Given the description of an element on the screen output the (x, y) to click on. 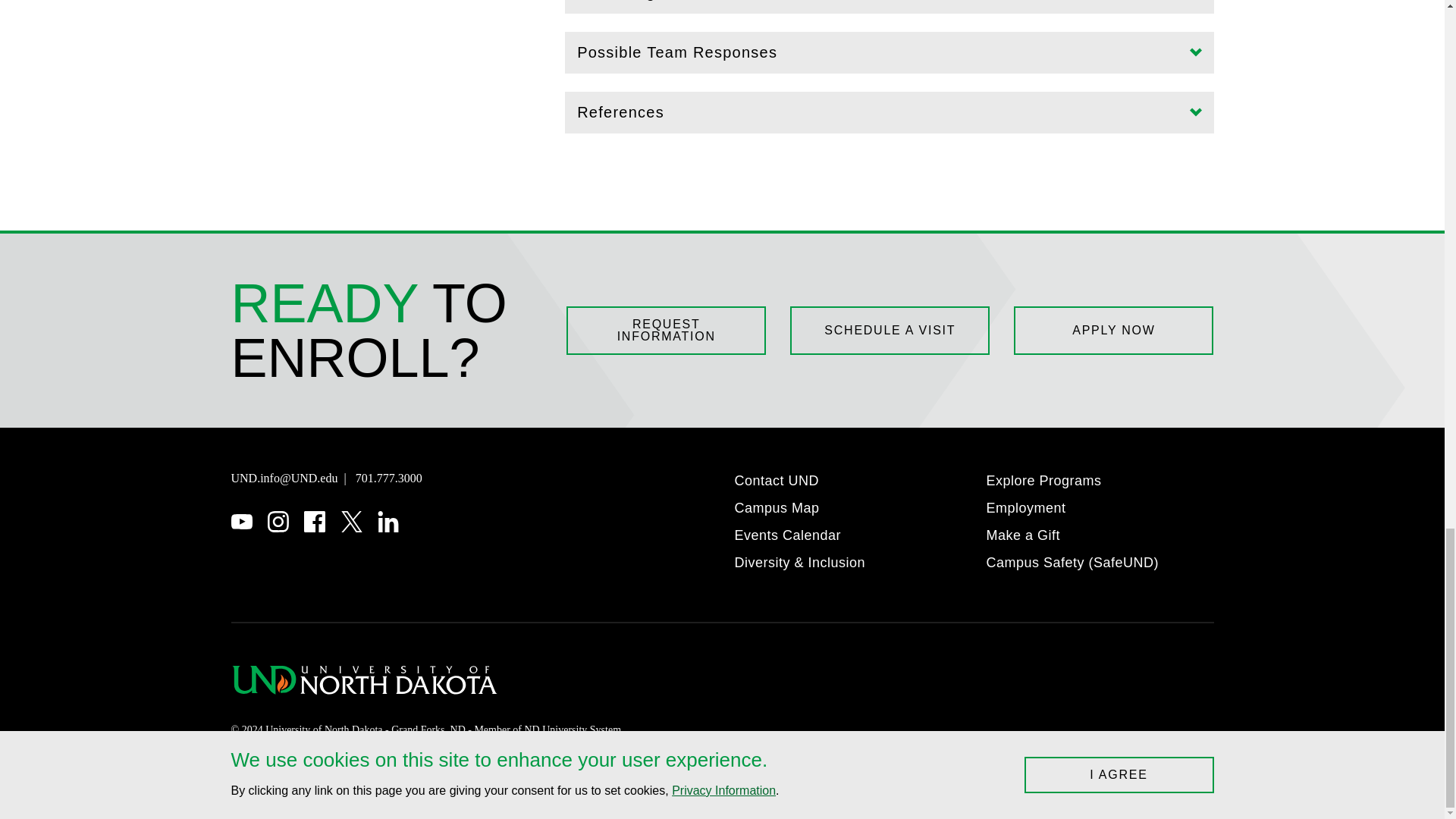
Instagram (277, 521)
Facebook (314, 521)
LinkedIn (387, 521)
YouTube (240, 521)
X (351, 521)
